Given the description of an element on the screen output the (x, y) to click on. 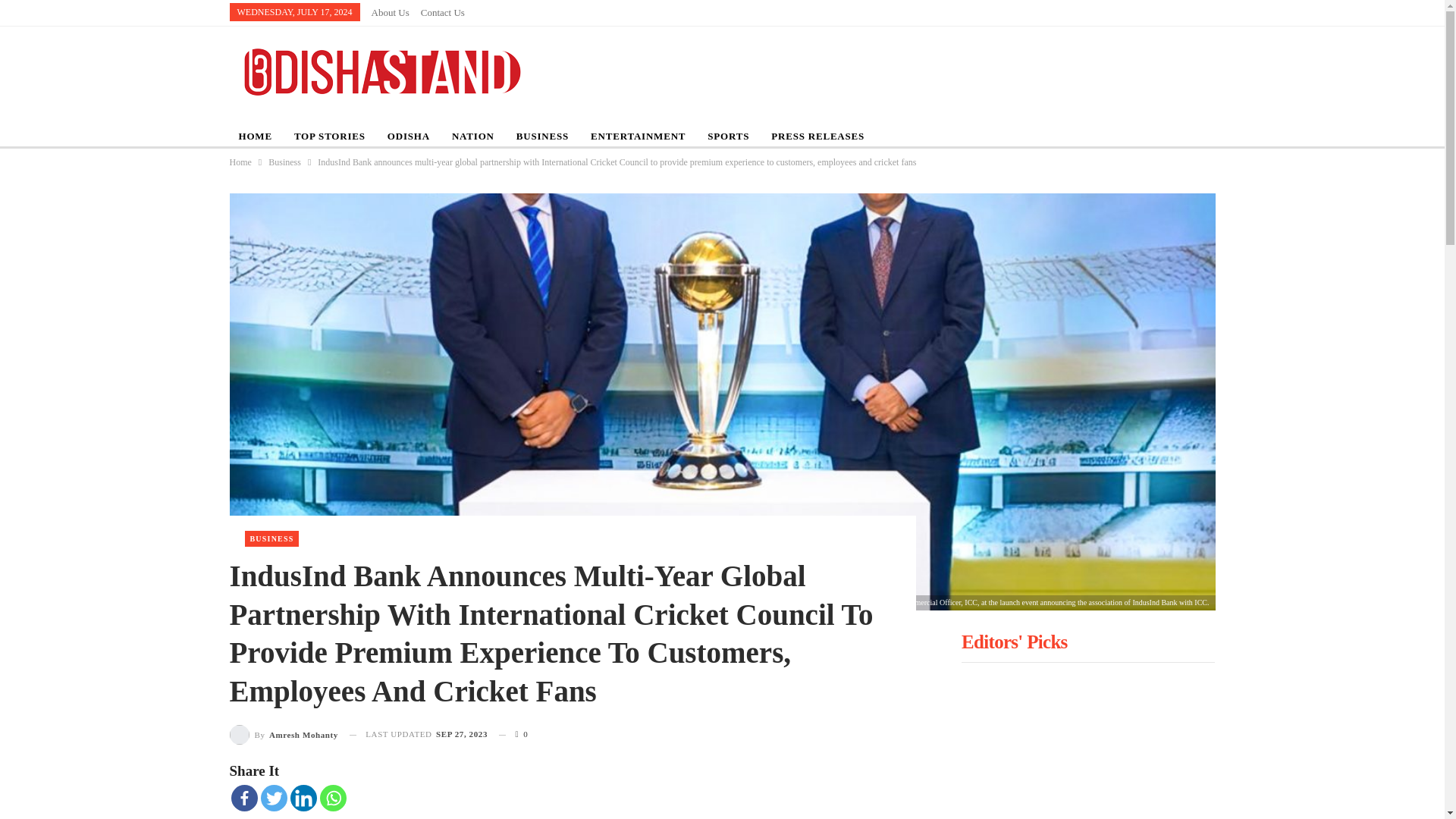
Twitter (273, 797)
Linkedin (302, 797)
BUSINESS (271, 538)
HOME (254, 135)
Home (239, 161)
0 (513, 733)
Facebook (243, 797)
ENTERTAINMENT (637, 135)
About Us (390, 12)
Browse Author Articles (282, 733)
Whatsapp (333, 797)
ODISHA (408, 135)
TOP STORIES (329, 135)
BUSINESS (542, 135)
